Given the description of an element on the screen output the (x, y) to click on. 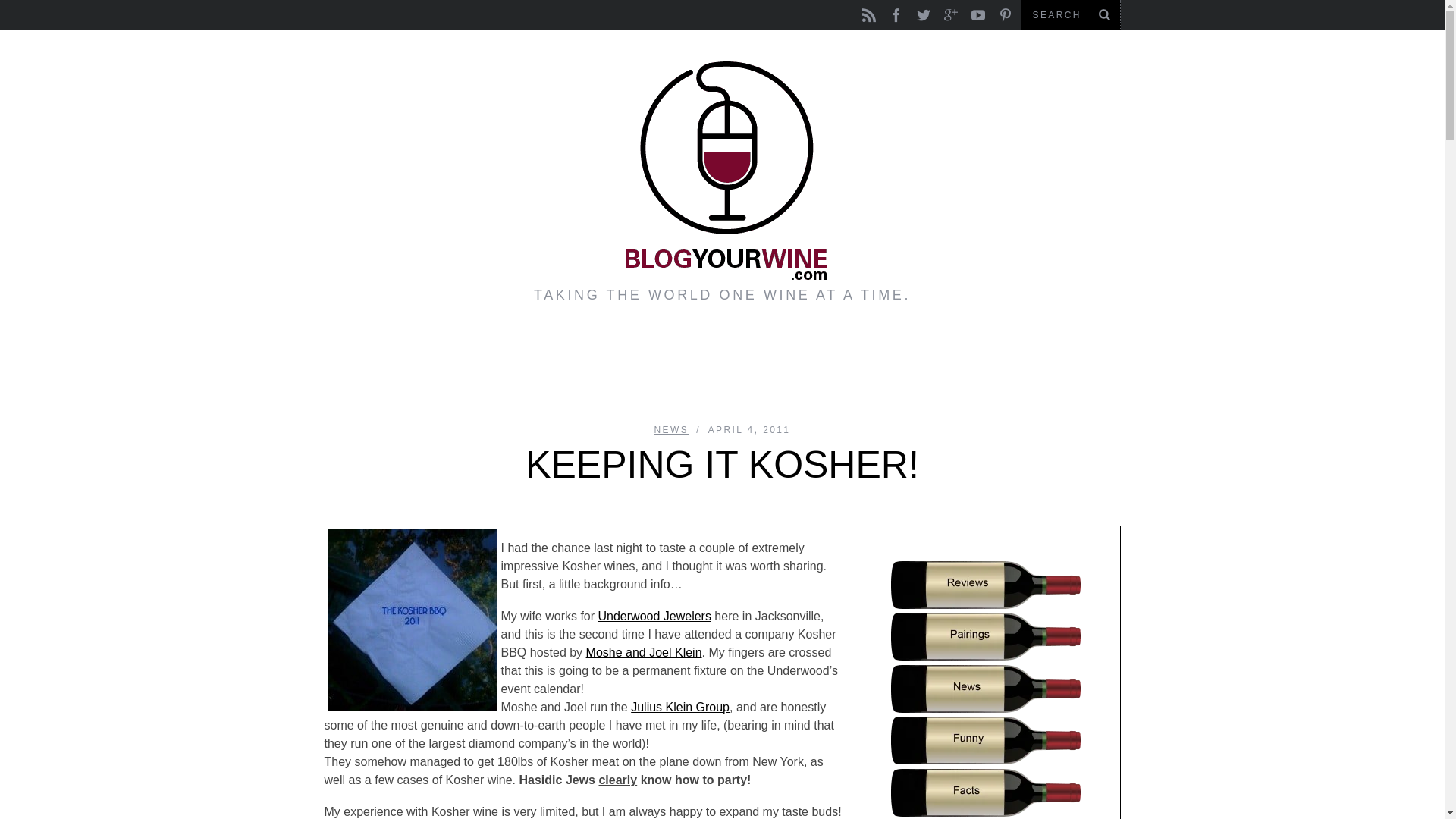
Blog Your Wine - Taking the world one wine at a time. (721, 169)
Moshe and Joel Klein (643, 652)
Underwood Jewelers Kosher BBQ 2011 (411, 620)
Underwood Jewelers (654, 615)
Search (1070, 15)
Julius Klein Group (679, 707)
